Given the description of an element on the screen output the (x, y) to click on. 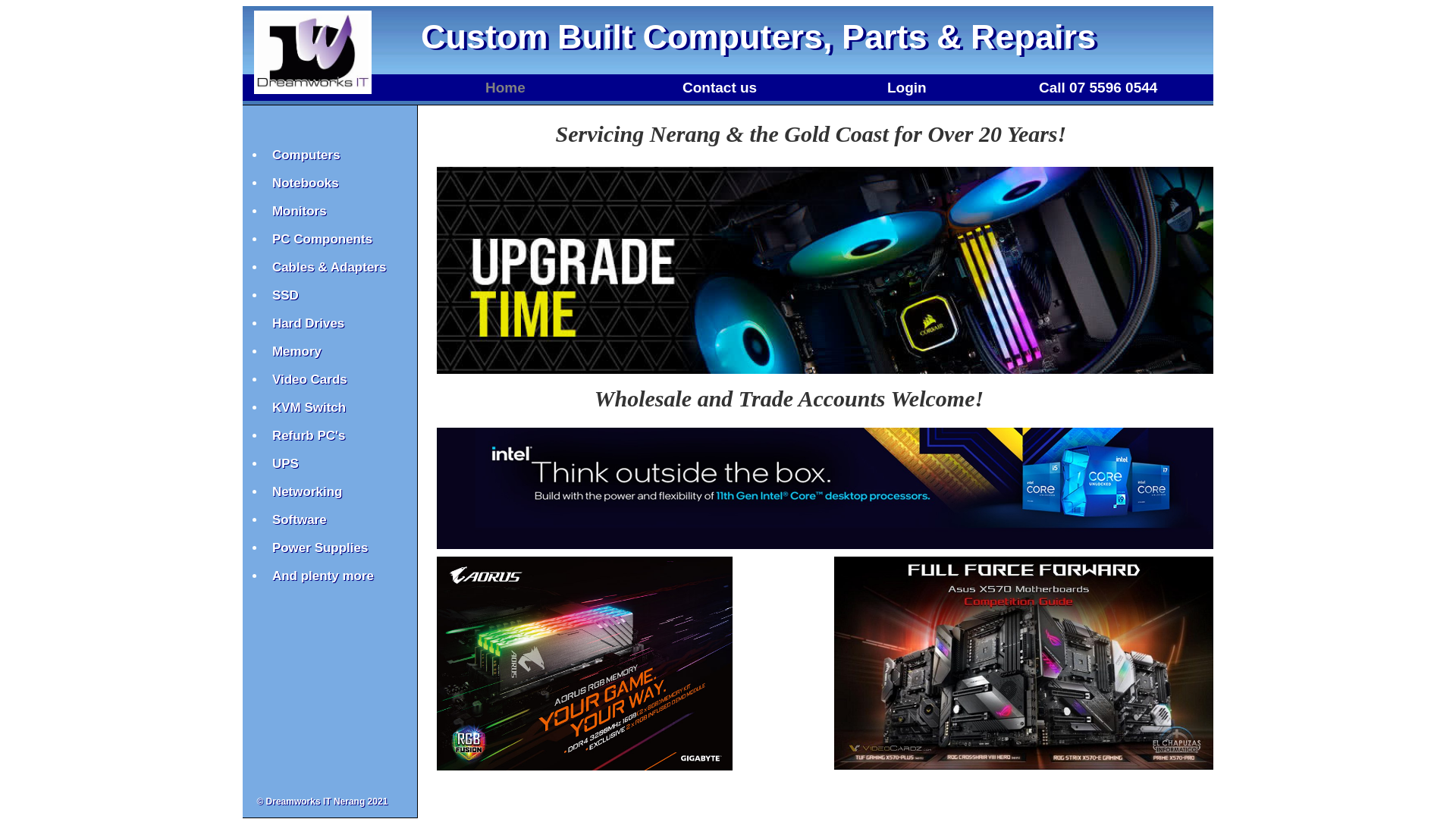
Login Element type: text (906, 87)
Contact us Element type: text (719, 87)
